Given the description of an element on the screen output the (x, y) to click on. 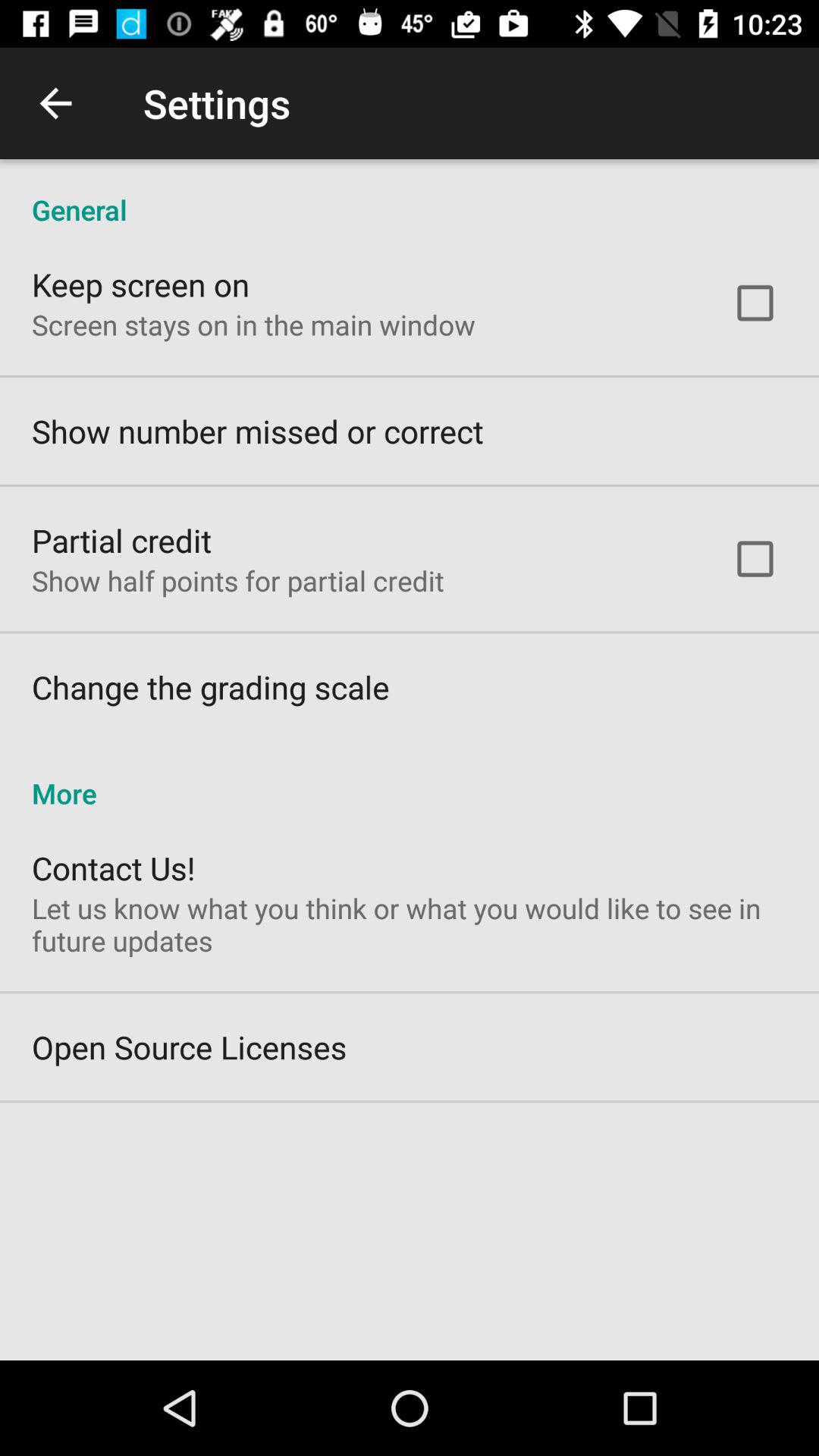
select the icon to the left of the settings icon (55, 103)
